Given the description of an element on the screen output the (x, y) to click on. 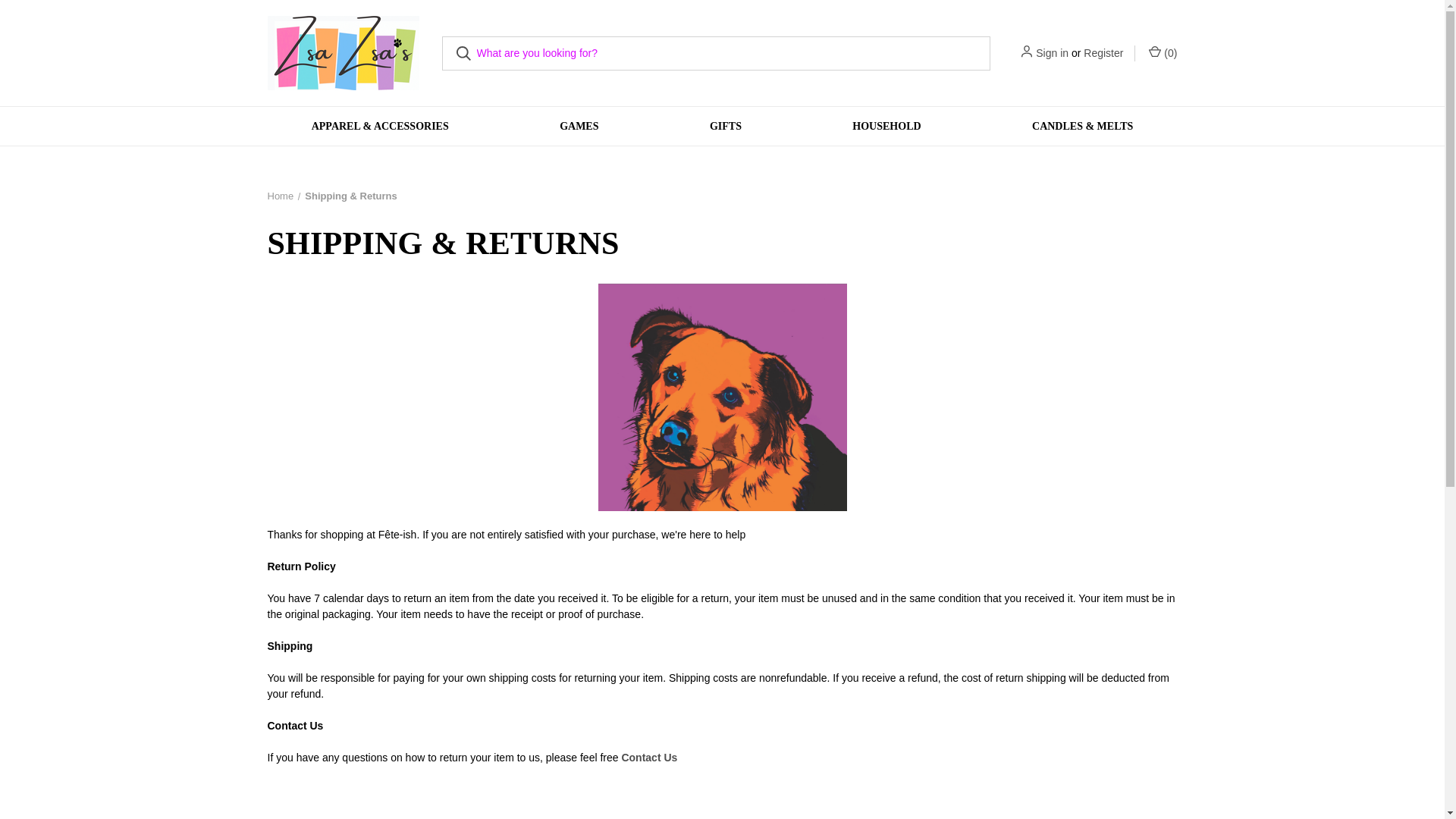
Sign in (1051, 53)
Register (1102, 53)
Fete-ish (342, 52)
GIFTS (724, 126)
GAMES (578, 126)
